Given the description of an element on the screen output the (x, y) to click on. 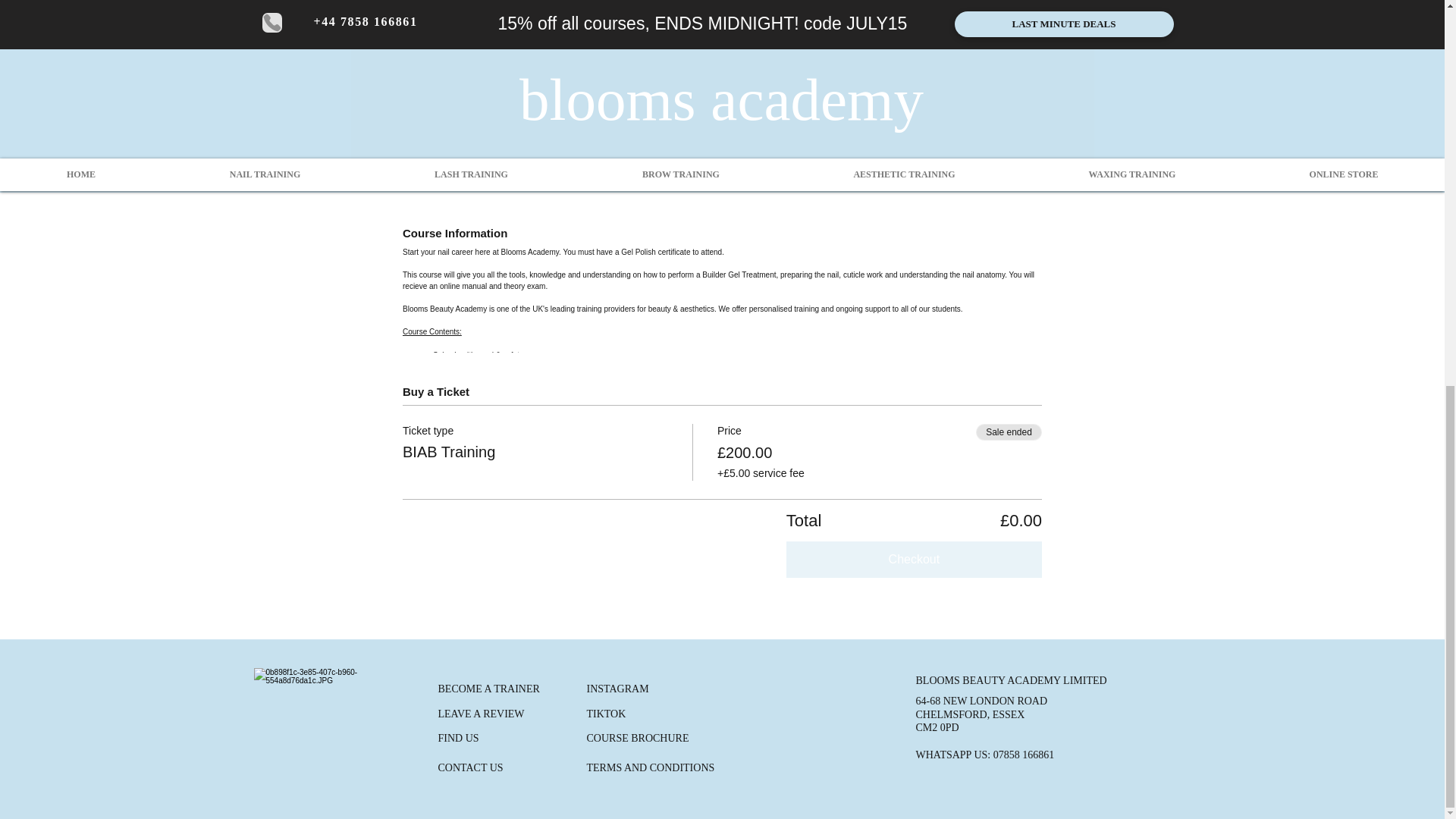
BECOME A TRAINER (489, 688)
Checkout (914, 559)
